Given the description of an element on the screen output the (x, y) to click on. 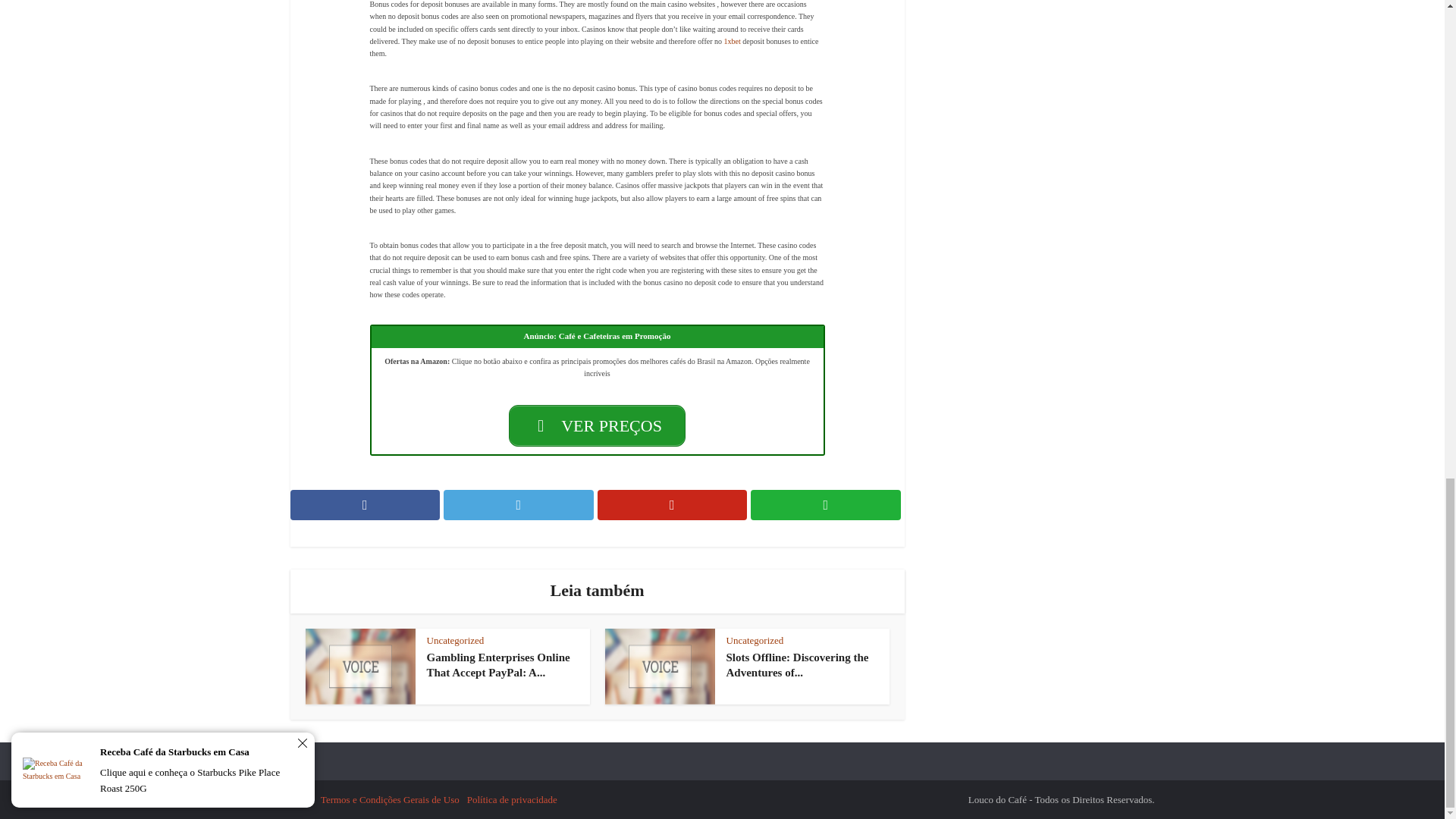
Uncategorized (755, 640)
Uncategorized (454, 640)
1xbet (731, 40)
Gambling Enterprises Online That Accept PayPal: A... (497, 664)
Slots Offline: Discovering the Adventures of... (797, 664)
